Given the description of an element on the screen output the (x, y) to click on. 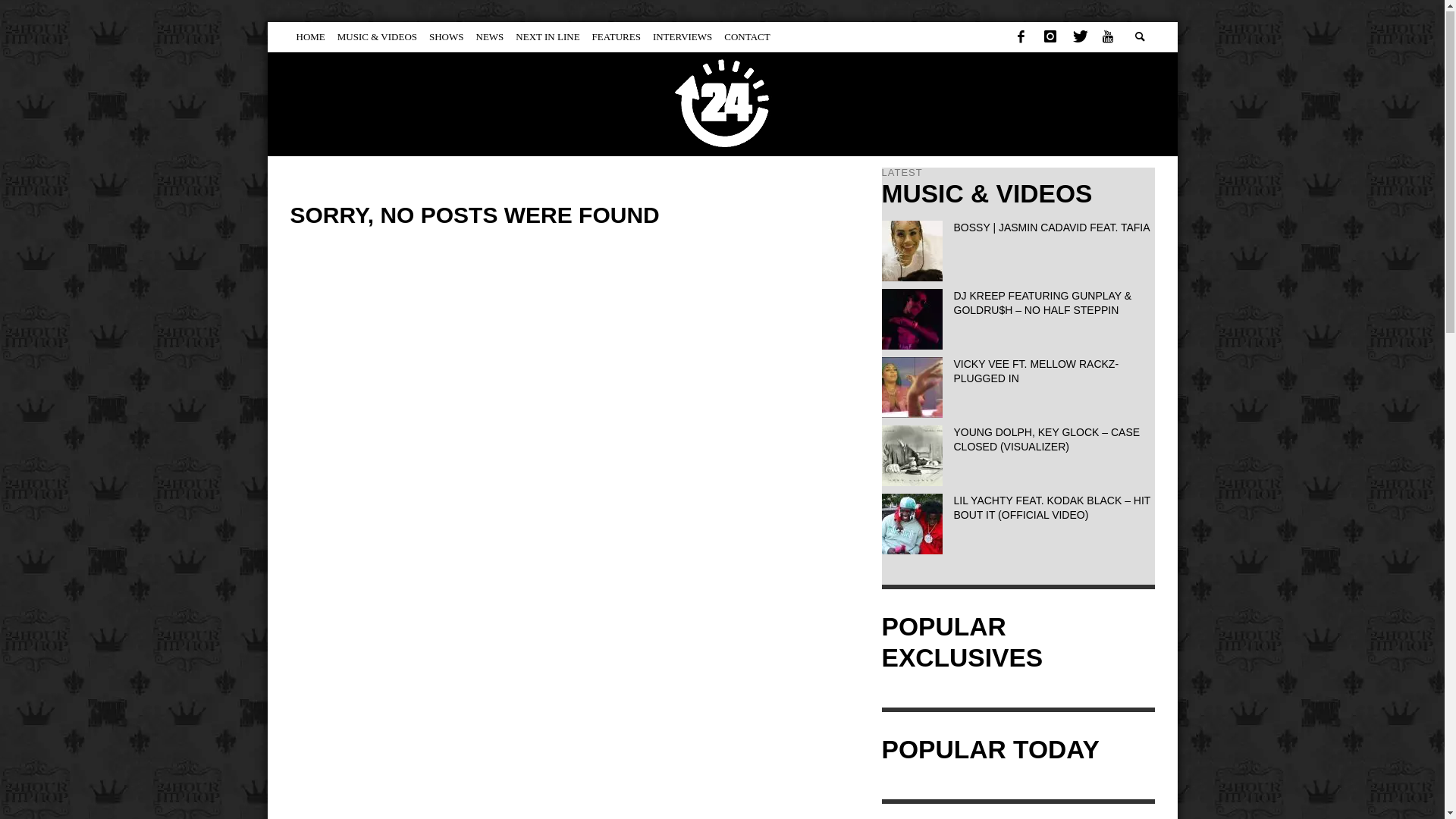
MUSIC & VIDEOS Element type: text (377, 37)
NEWS Element type: text (490, 37)
FEATURES Element type: text (616, 37)
BOSSY | JASMIN CADAVID FEAT. TAFIA Element type: text (1051, 228)
HOME Element type: text (309, 37)
BOSSY | JASMIN CADAVID FEAT. TAFIA | 24HourHipHop Element type: hover (911, 250)
NEXT IN LINE Element type: text (547, 37)
Youtube Element type: hover (1107, 37)
INTERVIEWS Element type: text (682, 37)
Twitter Element type: hover (1078, 37)
Facebook Element type: hover (1020, 37)
CONTACT Element type: text (746, 37)
Instagram Element type: hover (1049, 37)
Vicky Vee FT. Mellow Rackz- Plugged In | 24HourHipHop Element type: hover (911, 387)
SHOWS Element type: text (446, 37)
VICKY VEE FT. MELLOW RACKZ- PLUGGED IN Element type: text (1036, 371)
